Given the description of an element on the screen output the (x, y) to click on. 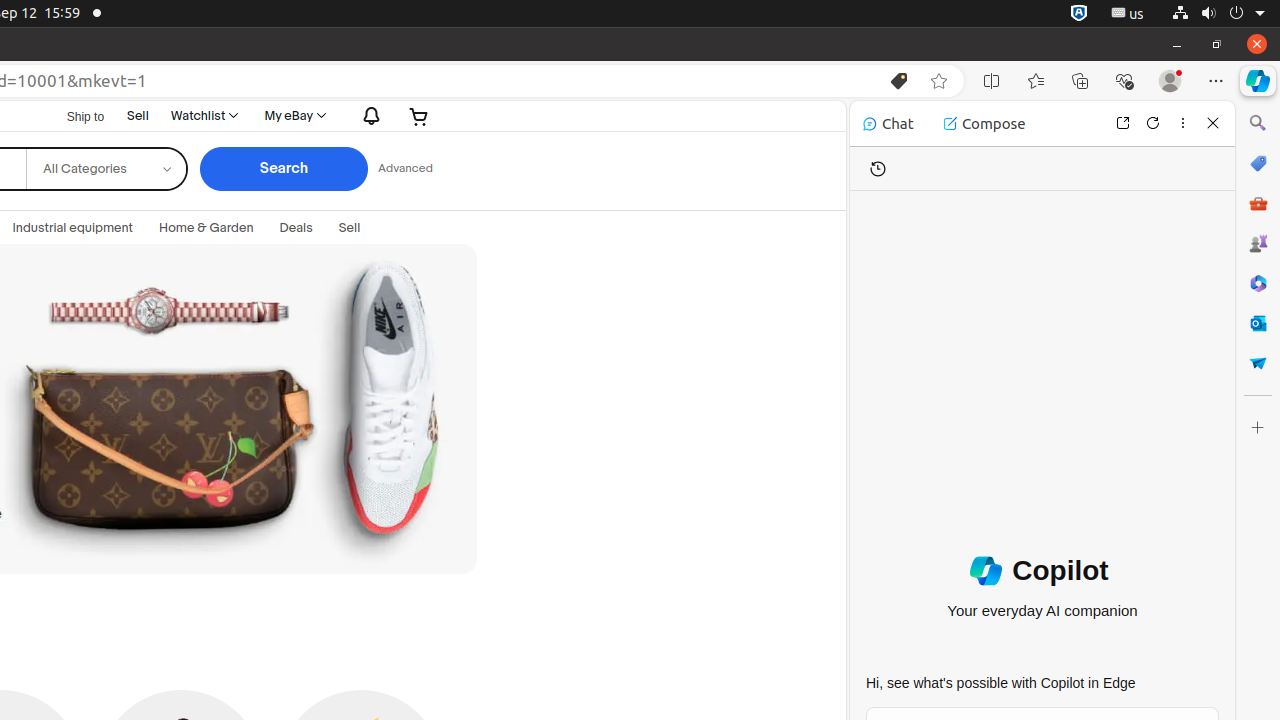
Favorites Element type: push-button (1036, 81)
All Categories Element type: menu-item (105, 154)
My eBay Element type: link (294, 115)
Split screen Element type: push-button (992, 81)
Profile 1 Profile, Please sign in Element type: push-button (1170, 81)
